Given the description of an element on the screen output the (x, y) to click on. 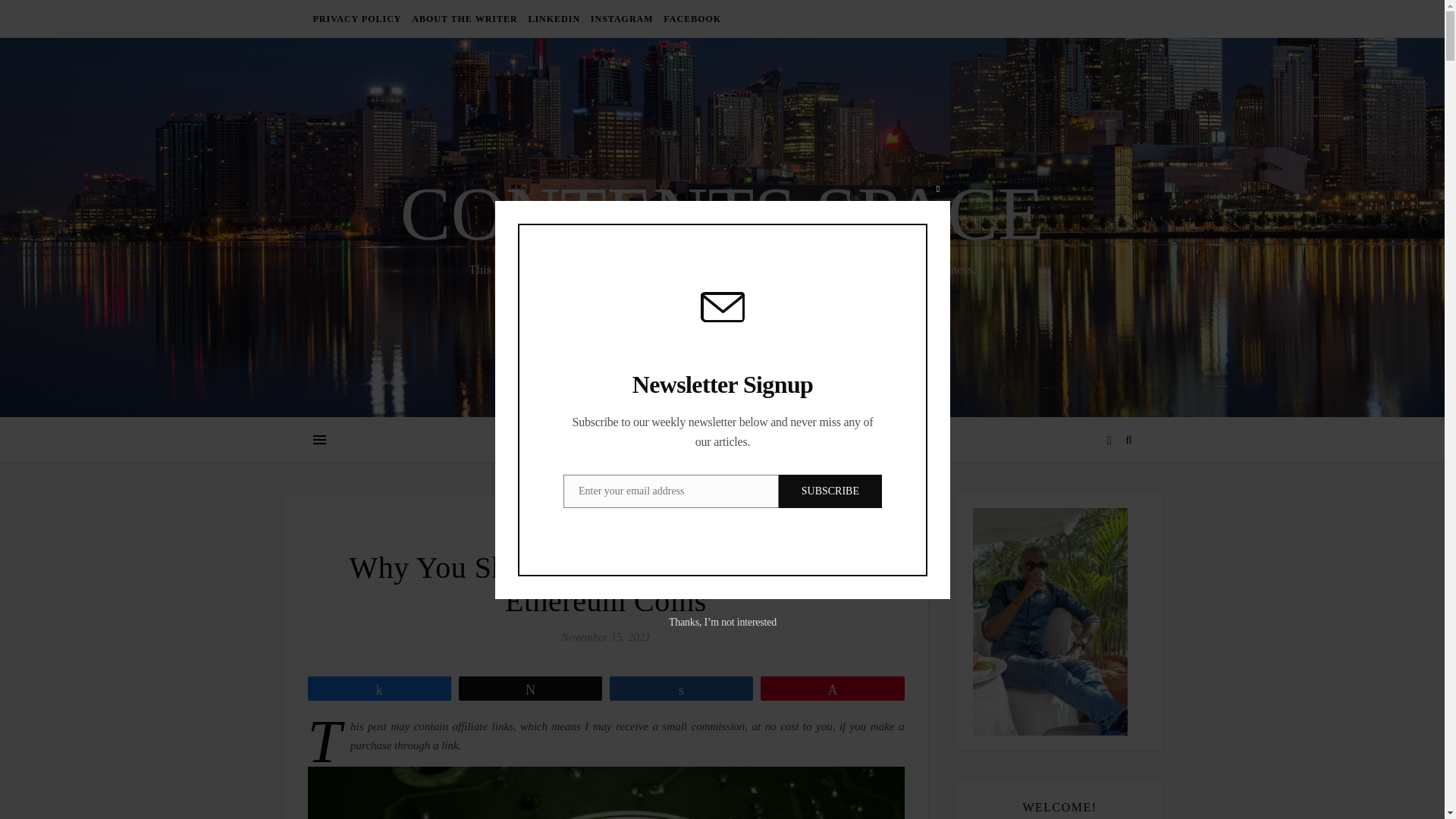
LINKEDIN (553, 18)
BANKING AND FINANCE (718, 439)
CRYPTOCURRENCY (561, 439)
PRIVACY POLICY (358, 18)
INSTAGRAM (622, 18)
PERSONAL FINANCE (879, 439)
ABOUT THE WRITER (464, 18)
UNCATEGORIZED (606, 541)
FACEBOOK (689, 18)
